Given the description of an element on the screen output the (x, y) to click on. 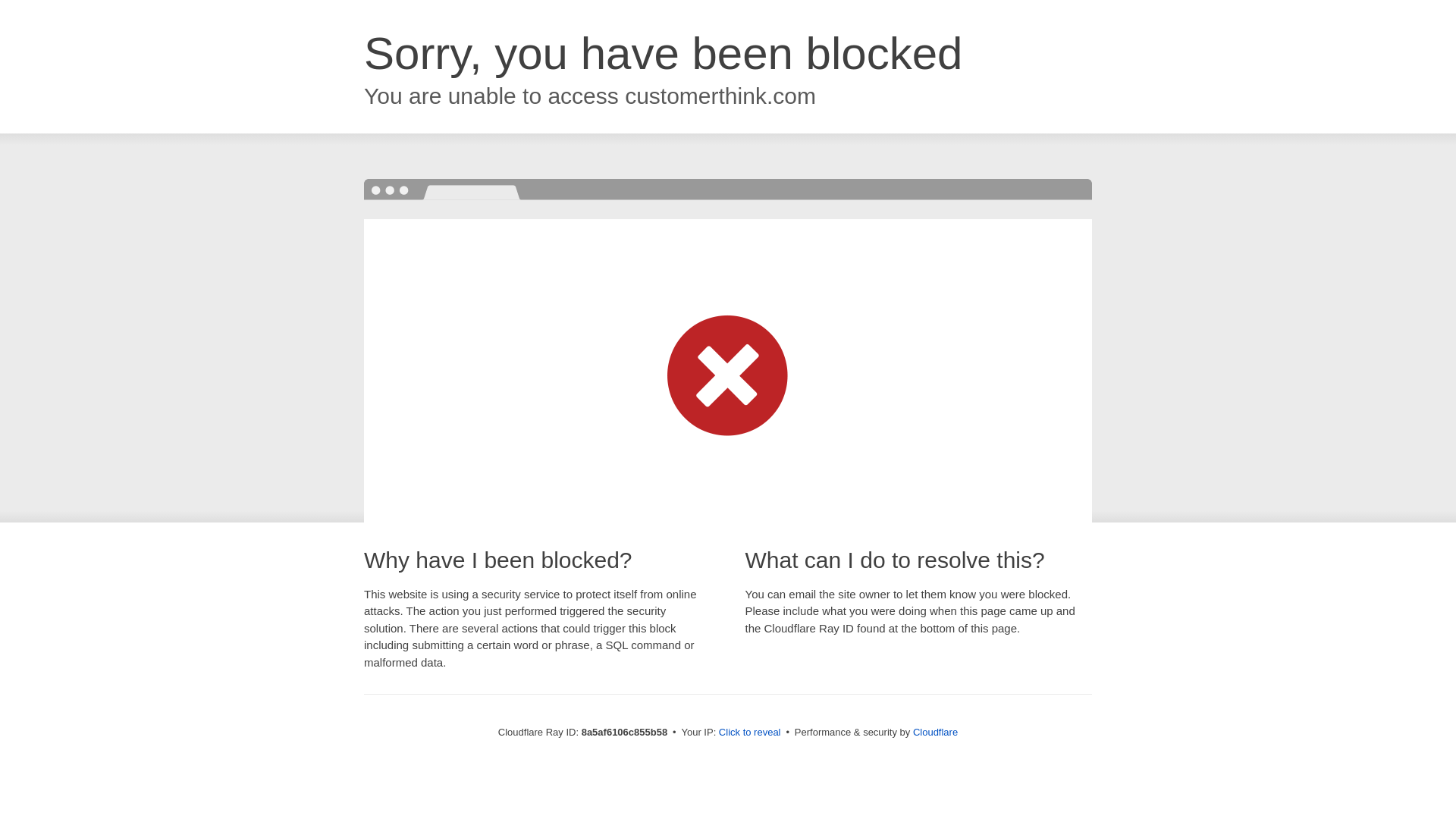
Cloudflare (935, 731)
Click to reveal (749, 732)
